Given the description of an element on the screen output the (x, y) to click on. 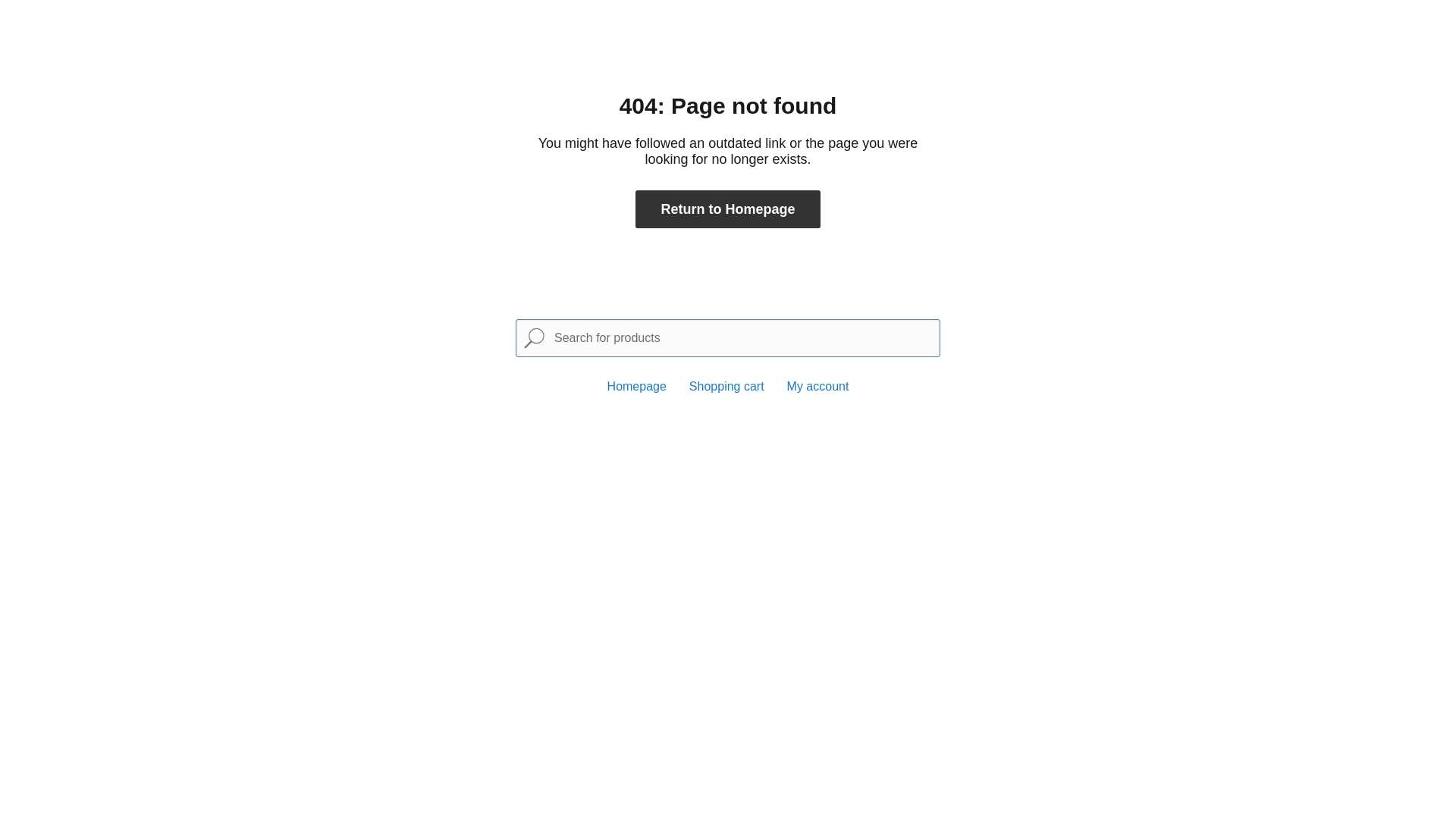
Return to Homepage Element type: text (727, 209)
Shopping cart Element type: text (726, 386)
Homepage Element type: text (636, 386)
My account Element type: text (818, 386)
